Given the description of an element on the screen output the (x, y) to click on. 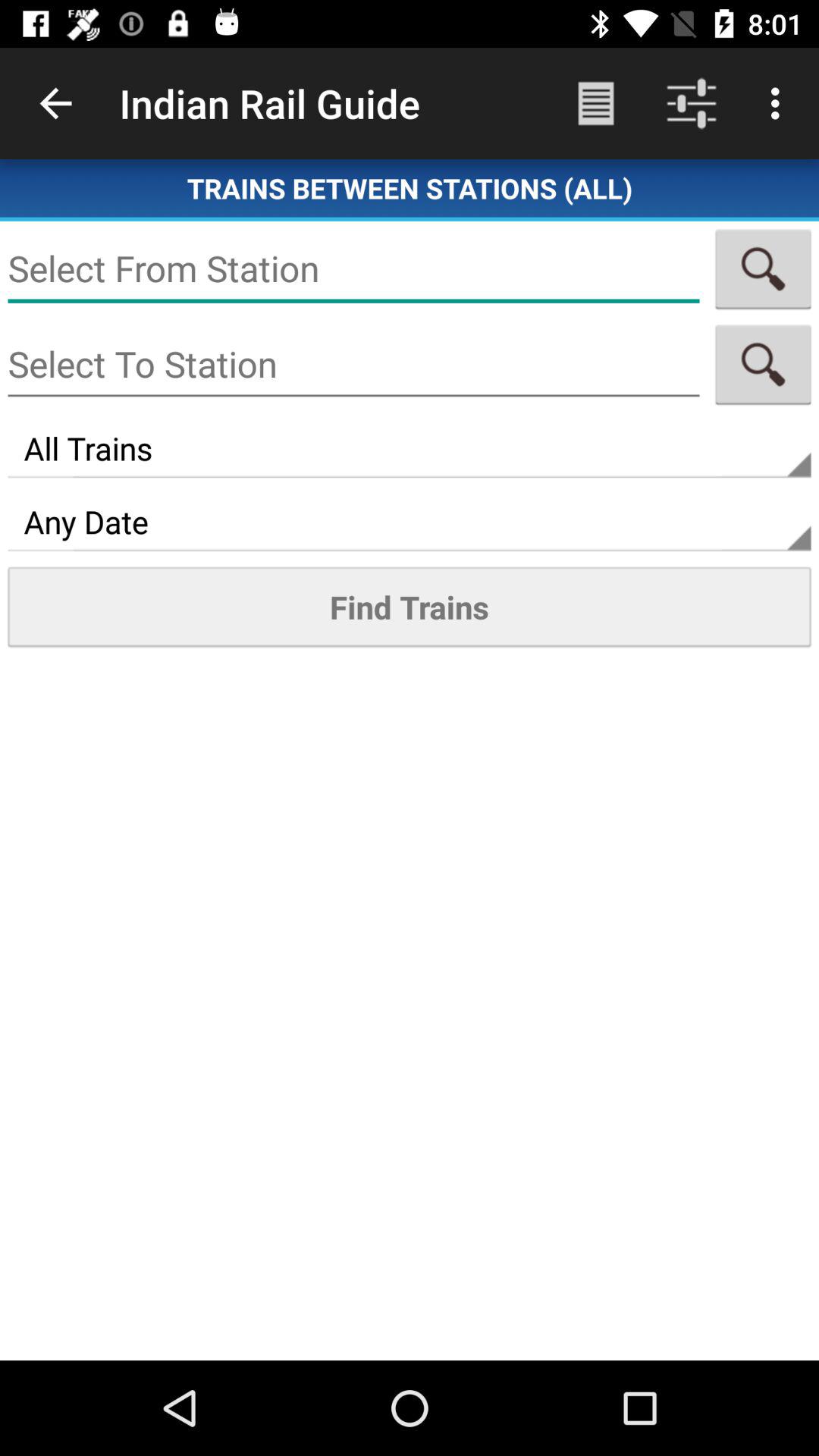
search bar use to search trains hour (763, 268)
